Given the description of an element on the screen output the (x, y) to click on. 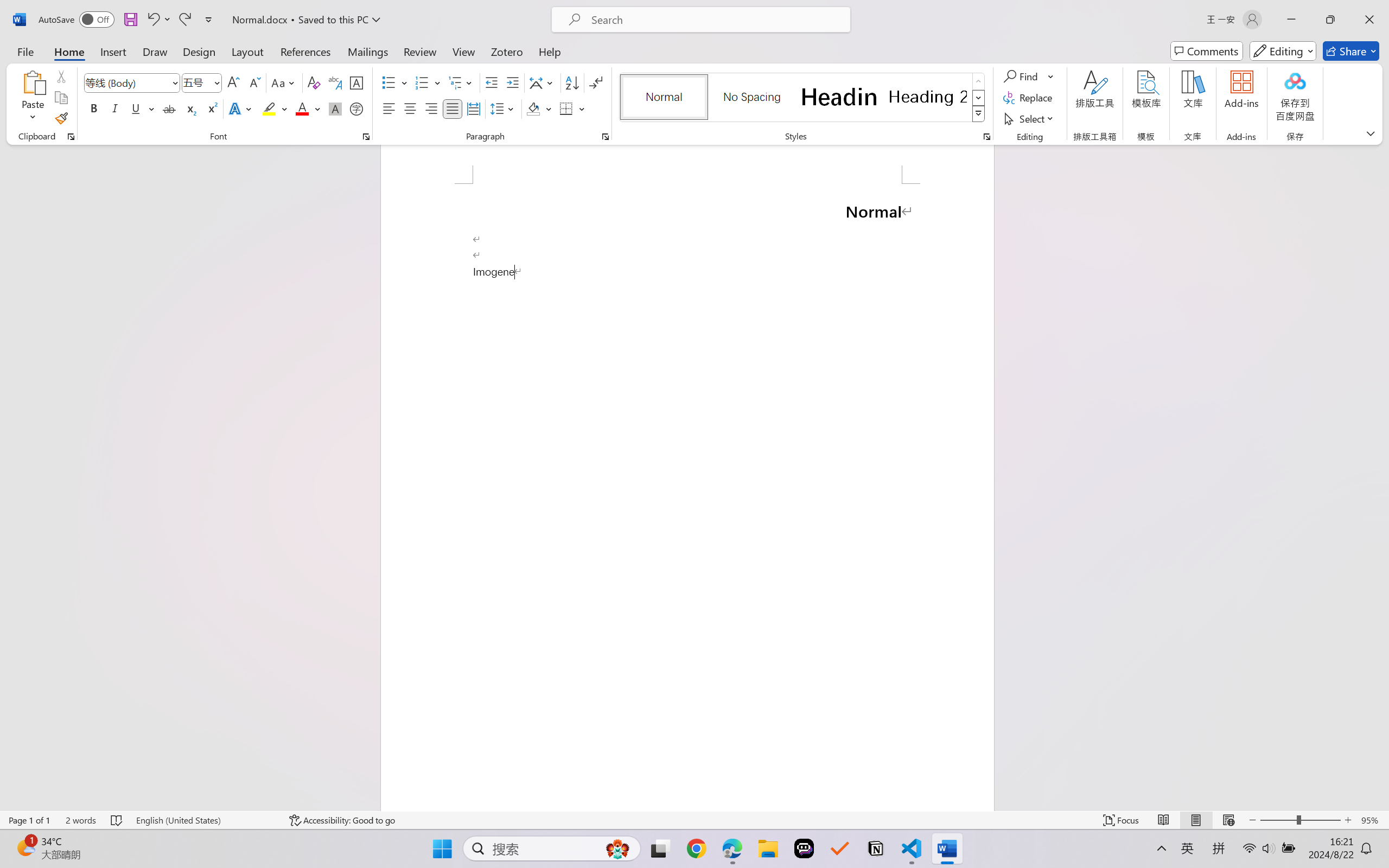
Show/Hide Editing Marks (595, 82)
Subscript (190, 108)
Redo Style (184, 19)
Paragraph... (605, 136)
Change Case (284, 82)
